Given the description of an element on the screen output the (x, y) to click on. 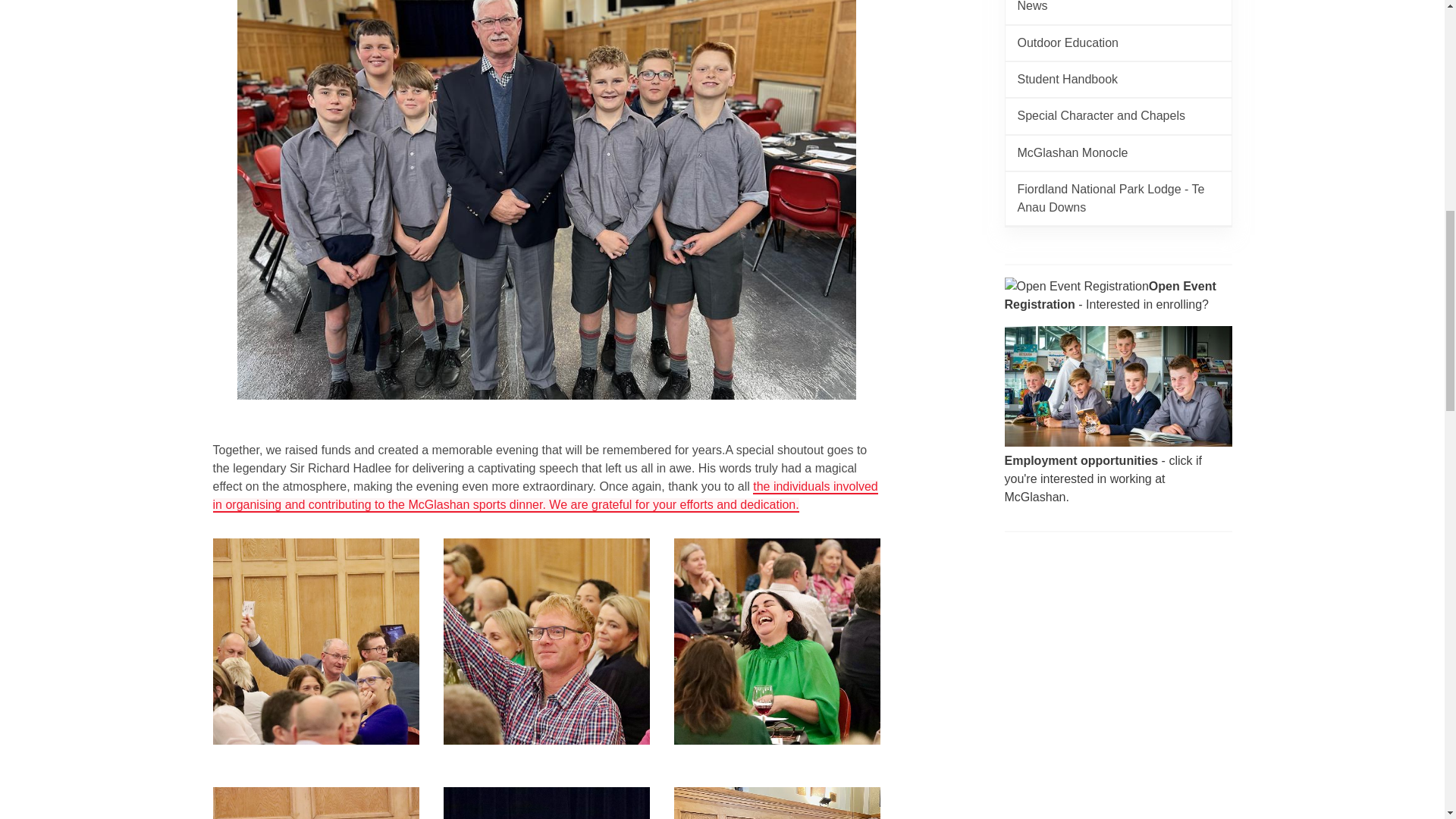
News (1118, 11)
Fiordland National Park Lodge - Te Anau Downs (1118, 198)
Outdoor Education (1118, 42)
Open Event Registration - Interested in enrolling? (1117, 301)
Special Character and Chapels (1118, 115)
Student Handbook (1118, 79)
McGlashan Monocle (1118, 152)
